Given the description of an element on the screen output the (x, y) to click on. 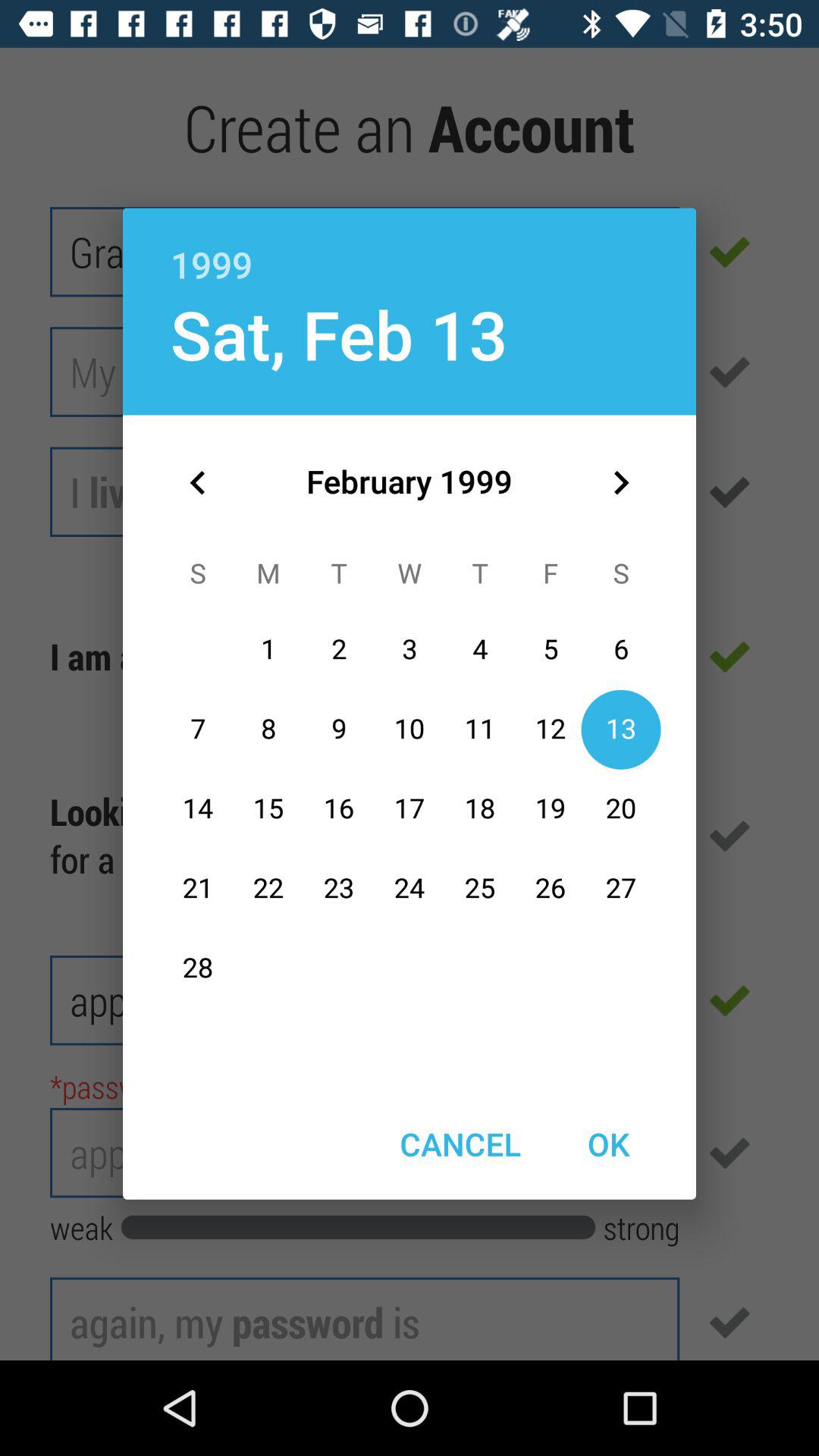
jump to 1999 icon (409, 248)
